Given the description of an element on the screen output the (x, y) to click on. 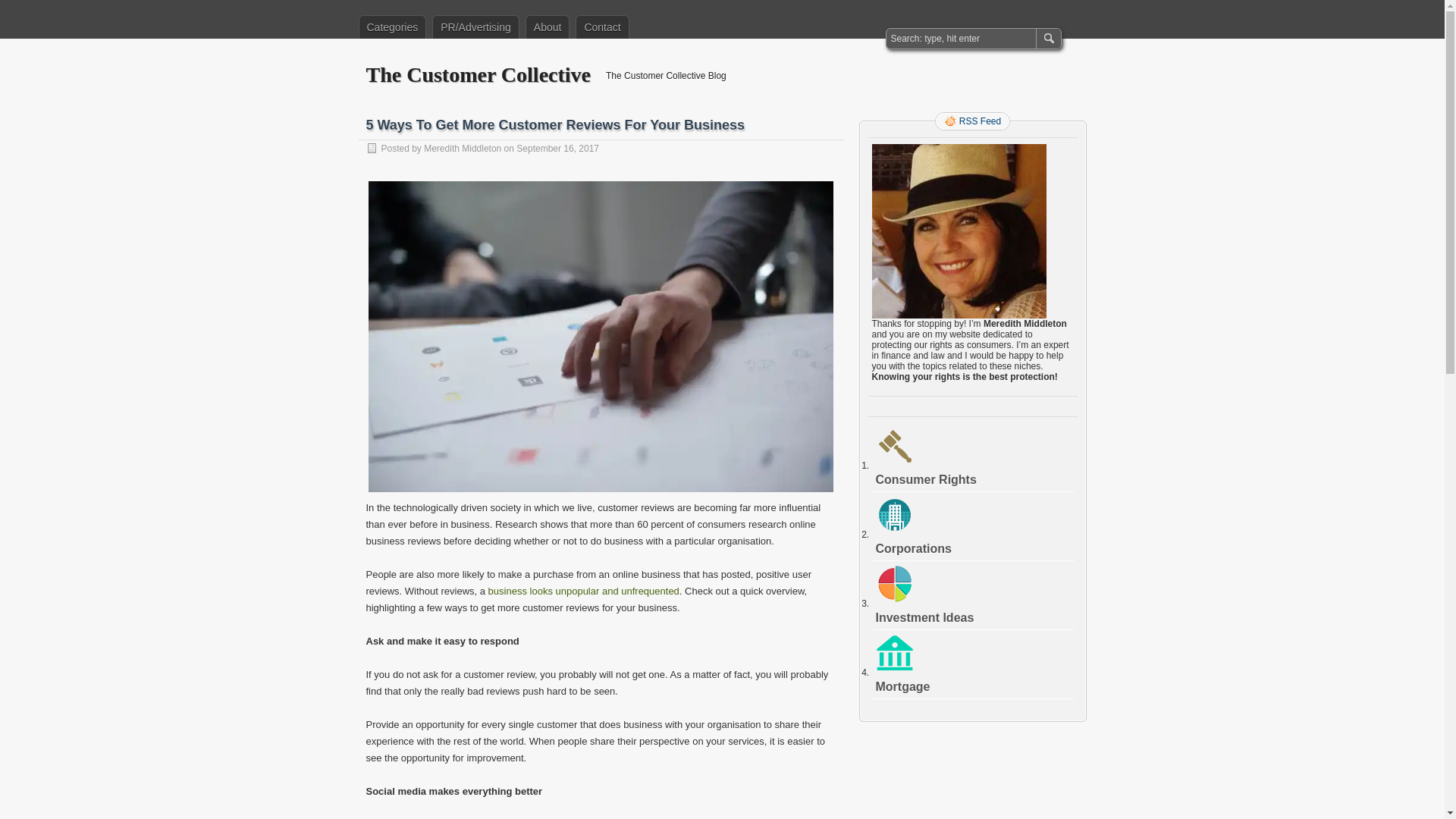
The Customer Collective (478, 74)
SEARCH (1047, 38)
SEARCH (1047, 38)
RSS Feed (972, 120)
View all posts by Meredith Middleton (461, 148)
Meredith Middleton (461, 148)
Search: type, hit enter (962, 38)
About (547, 26)
Contact (601, 26)
business looks unpopular and unfrequented (583, 591)
Categories (392, 26)
RSS Feed (972, 120)
